Given the description of an element on the screen output the (x, y) to click on. 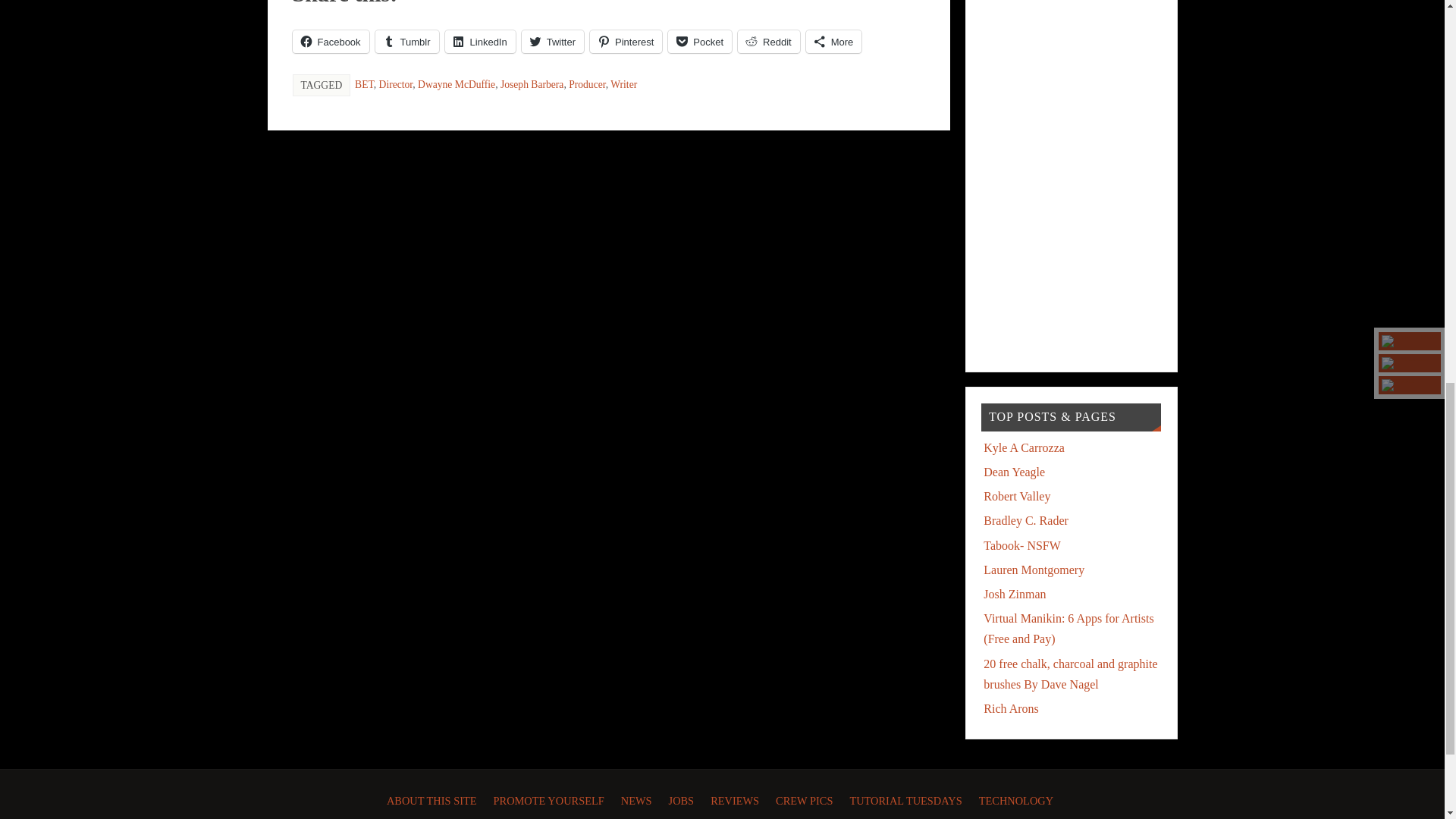
Click to share on Facebook (330, 41)
Reddit (768, 41)
Director (395, 84)
Click to share on Twitter (552, 41)
Pinterest (625, 41)
More (833, 41)
Tumblr (407, 41)
Click to share on LinkedIn (480, 41)
BET (364, 84)
Twitter (552, 41)
LinkedIn (480, 41)
Click to share on Tumblr (407, 41)
Facebook (330, 41)
Pocket (700, 41)
